Given the description of an element on the screen output the (x, y) to click on. 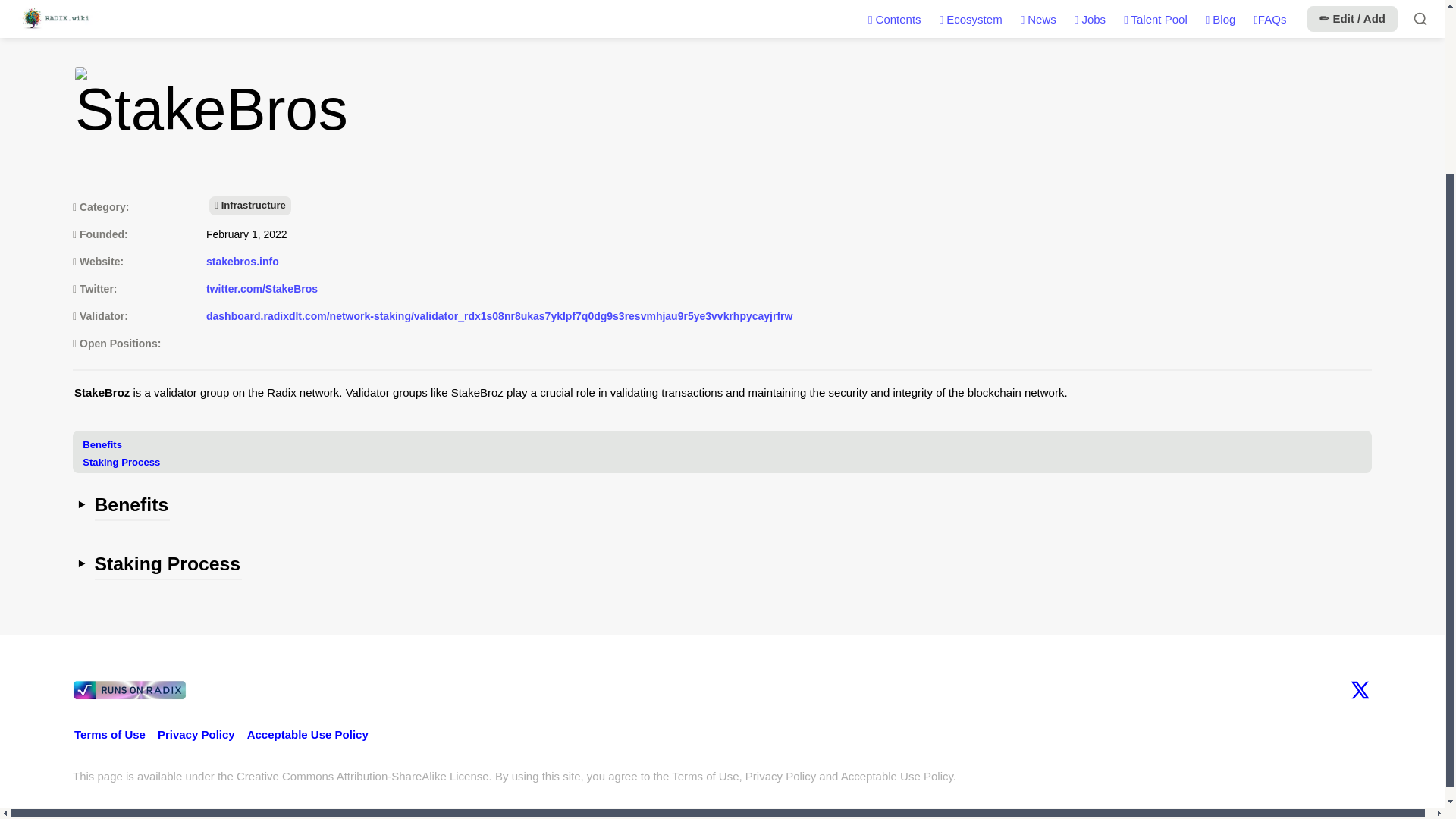
X (1359, 689)
Staking Process (726, 460)
Benefits (726, 443)
X (1359, 689)
Privacy Policy (195, 734)
Terms of Use (109, 734)
stakebros.info (242, 262)
Acceptable Use Policy (307, 734)
